Given the description of an element on the screen output the (x, y) to click on. 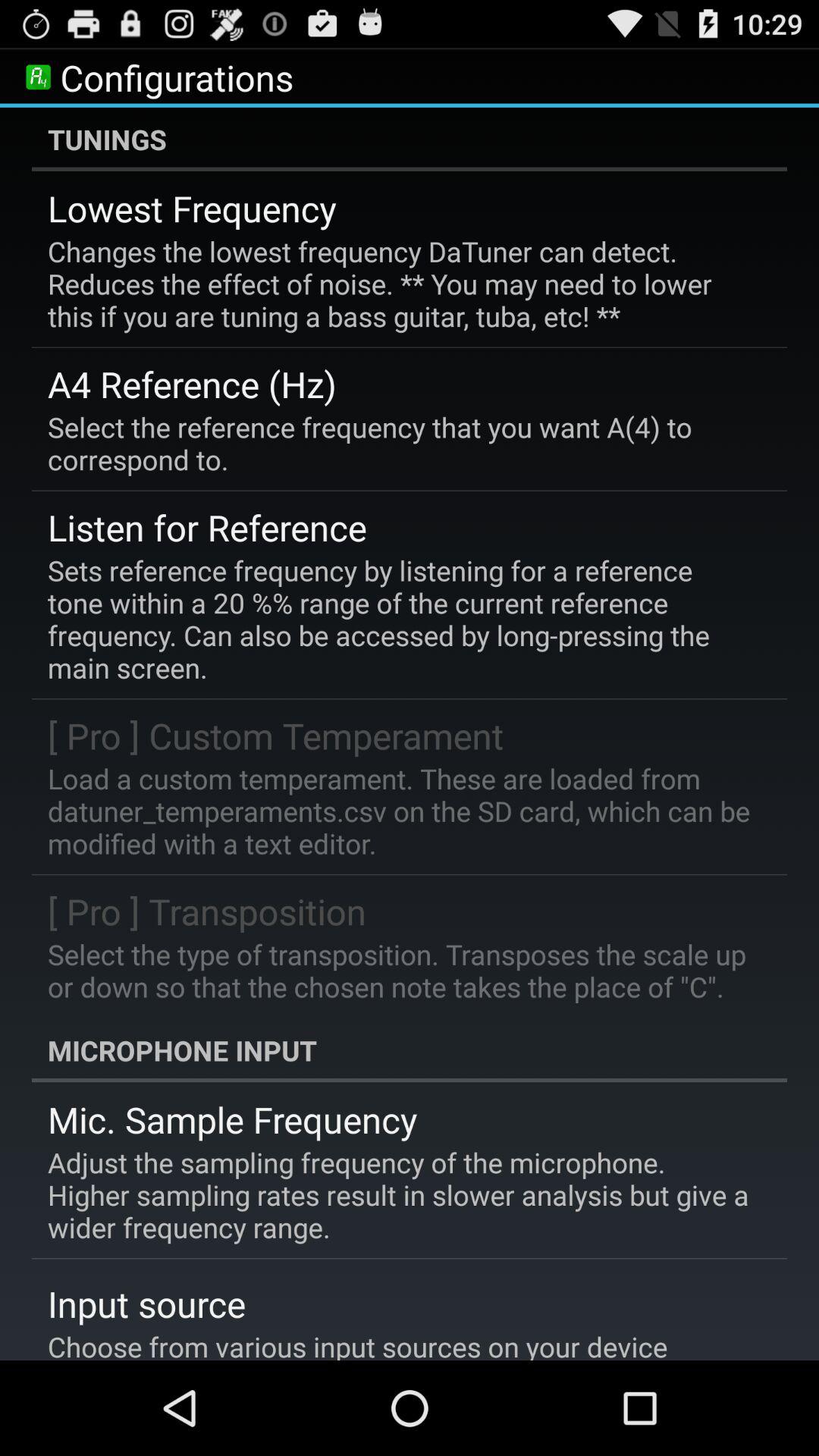
press the item below input source icon (357, 1344)
